Given the description of an element on the screen output the (x, y) to click on. 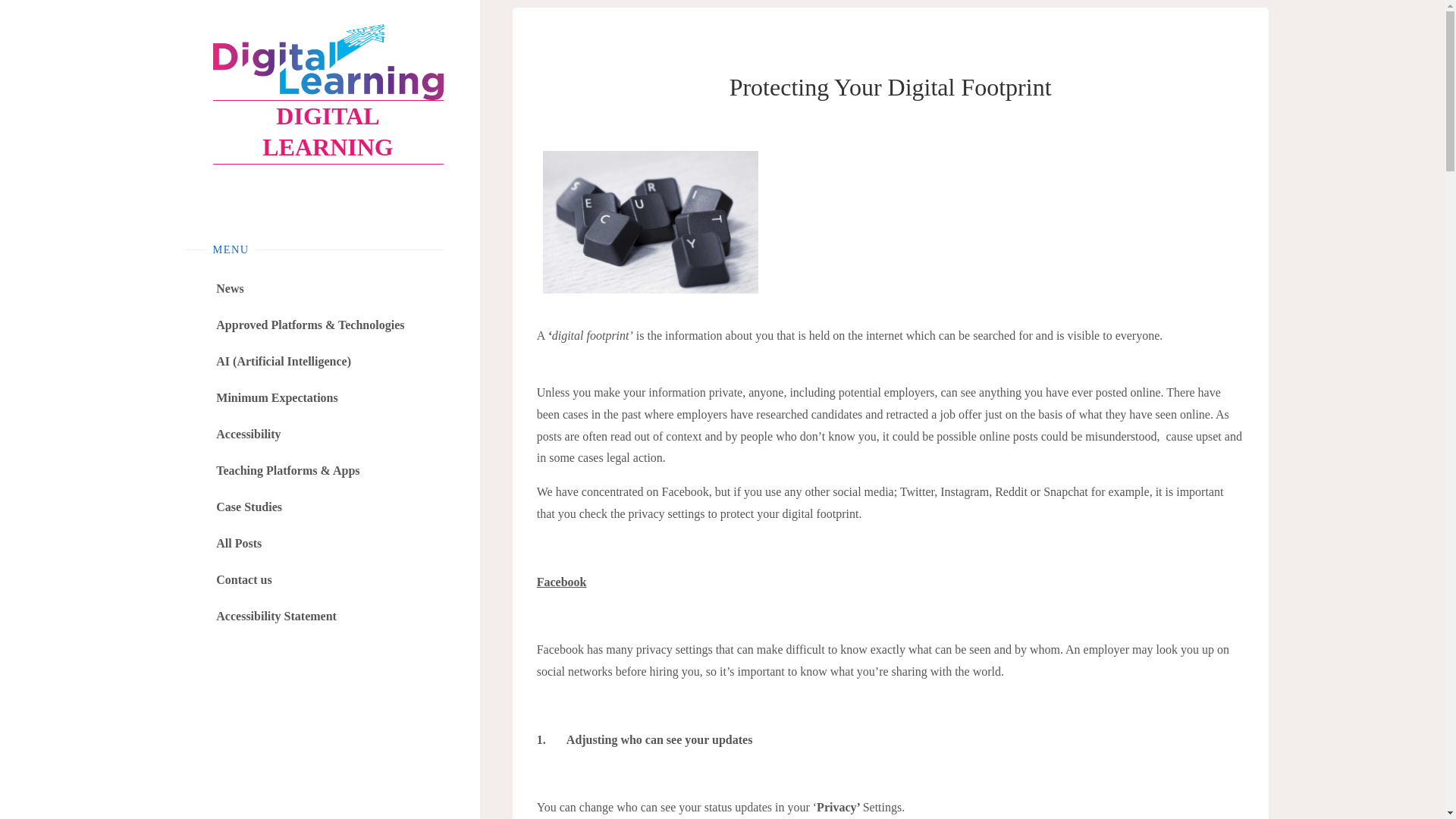
Digital Learning (327, 61)
DIGITAL LEARNING (327, 131)
Minimum Expectations (276, 398)
Accessibility (248, 434)
